Given the description of an element on the screen output the (x, y) to click on. 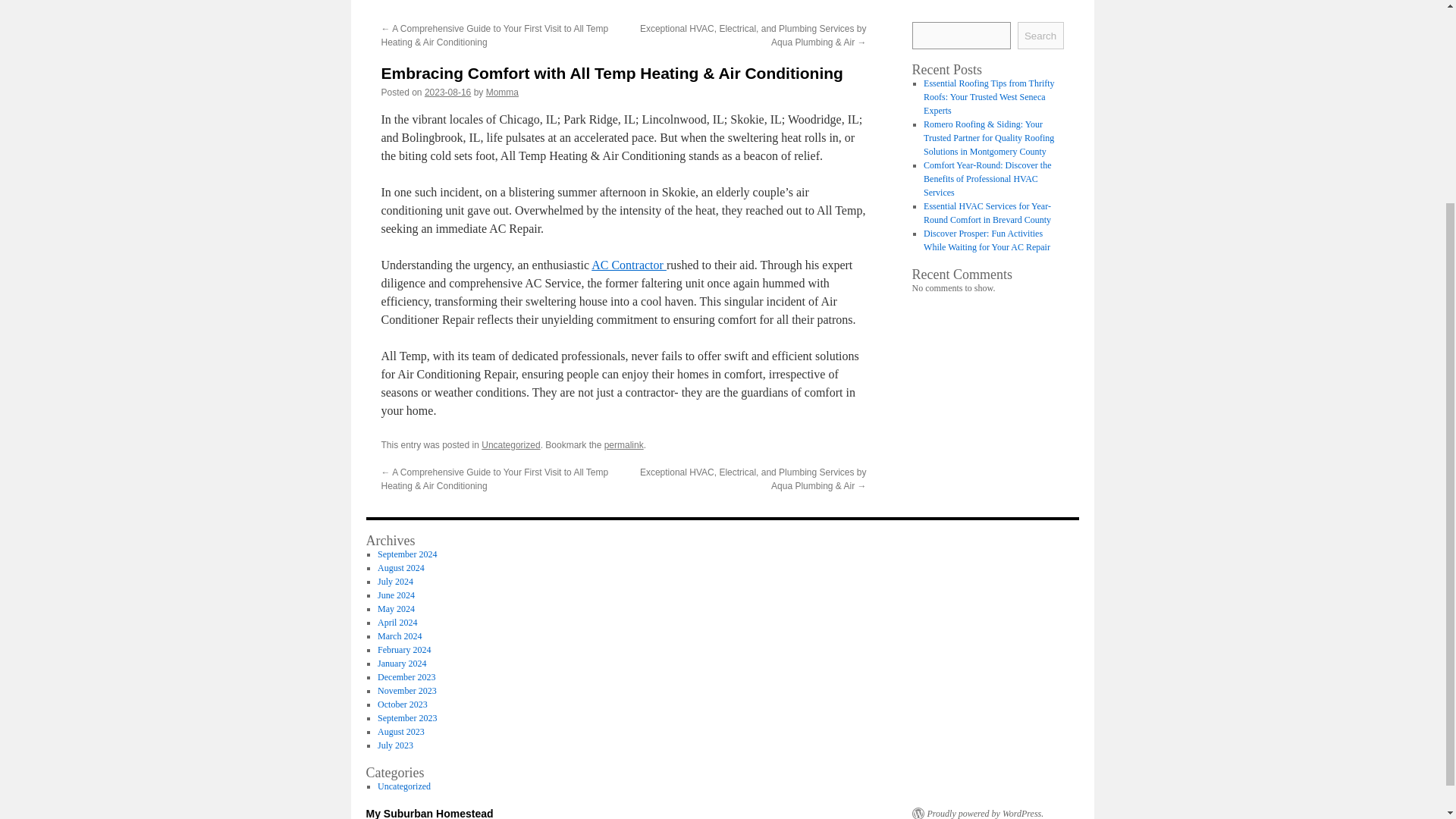
July 2024 (395, 581)
October 2023 (402, 704)
August 2023 (401, 731)
September 2024 (406, 553)
January 2024 (401, 663)
November 2023 (406, 690)
April 2024 (396, 622)
2023-08-16 (447, 91)
